Given the description of an element on the screen output the (x, y) to click on. 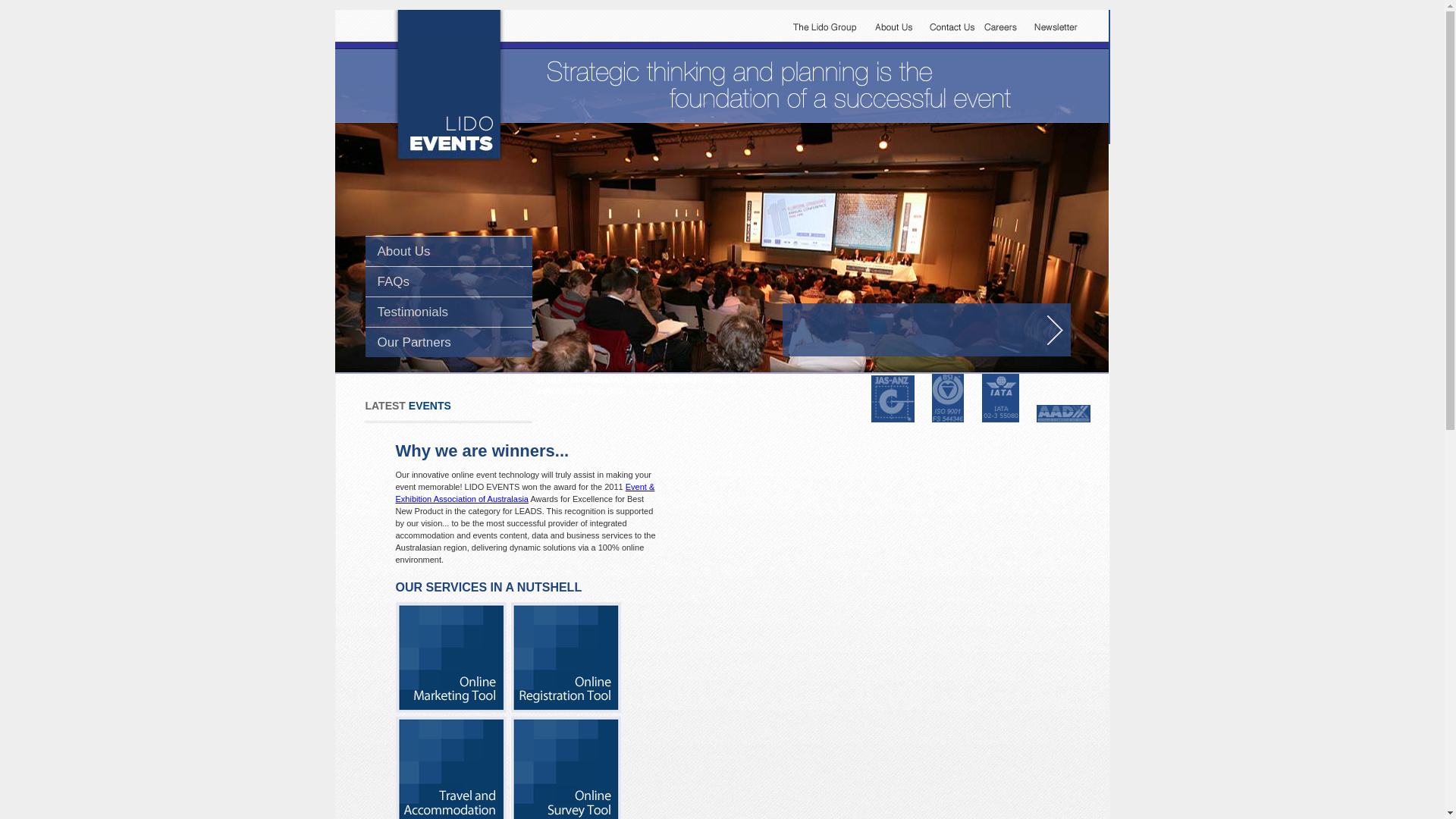
FAQs Element type: text (393, 281)
event calendar Element type: text (659, 379)
Our Partners Element type: text (414, 342)
privacy Element type: text (549, 379)
About Us Element type: text (403, 251)
testimonials Element type: text (597, 379)
www.government.travel Element type: text (579, 390)
Event & Exhibition Association of Australasia Element type: text (525, 492)
Testimonials Element type: text (412, 311)
cheap flights Element type: text (723, 379)
www.university.travel Element type: text (673, 390)
